Given the description of an element on the screen output the (x, y) to click on. 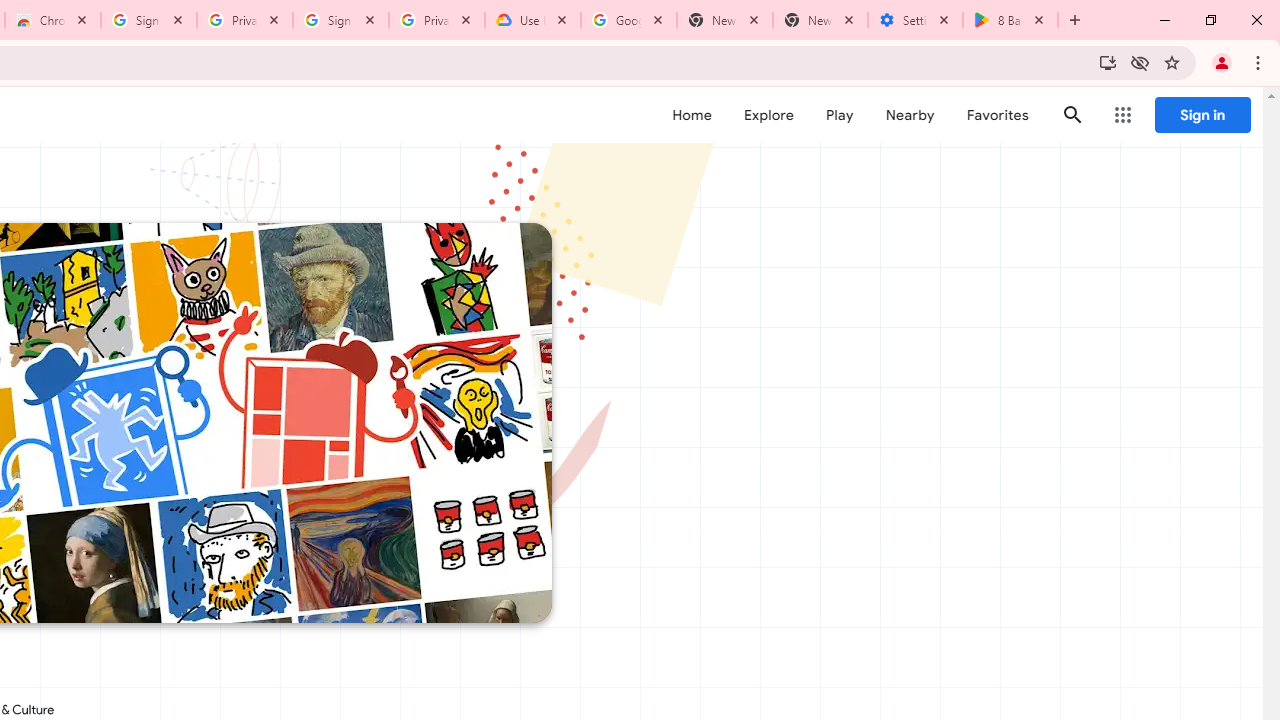
Nearby (910, 115)
Play (840, 115)
8 Ball Pool - Apps on Google Play (1010, 20)
Sign in - Google Accounts (341, 20)
Quit Game (1222, 126)
Sign in - Google Accounts (149, 20)
